Given the description of an element on the screen output the (x, y) to click on. 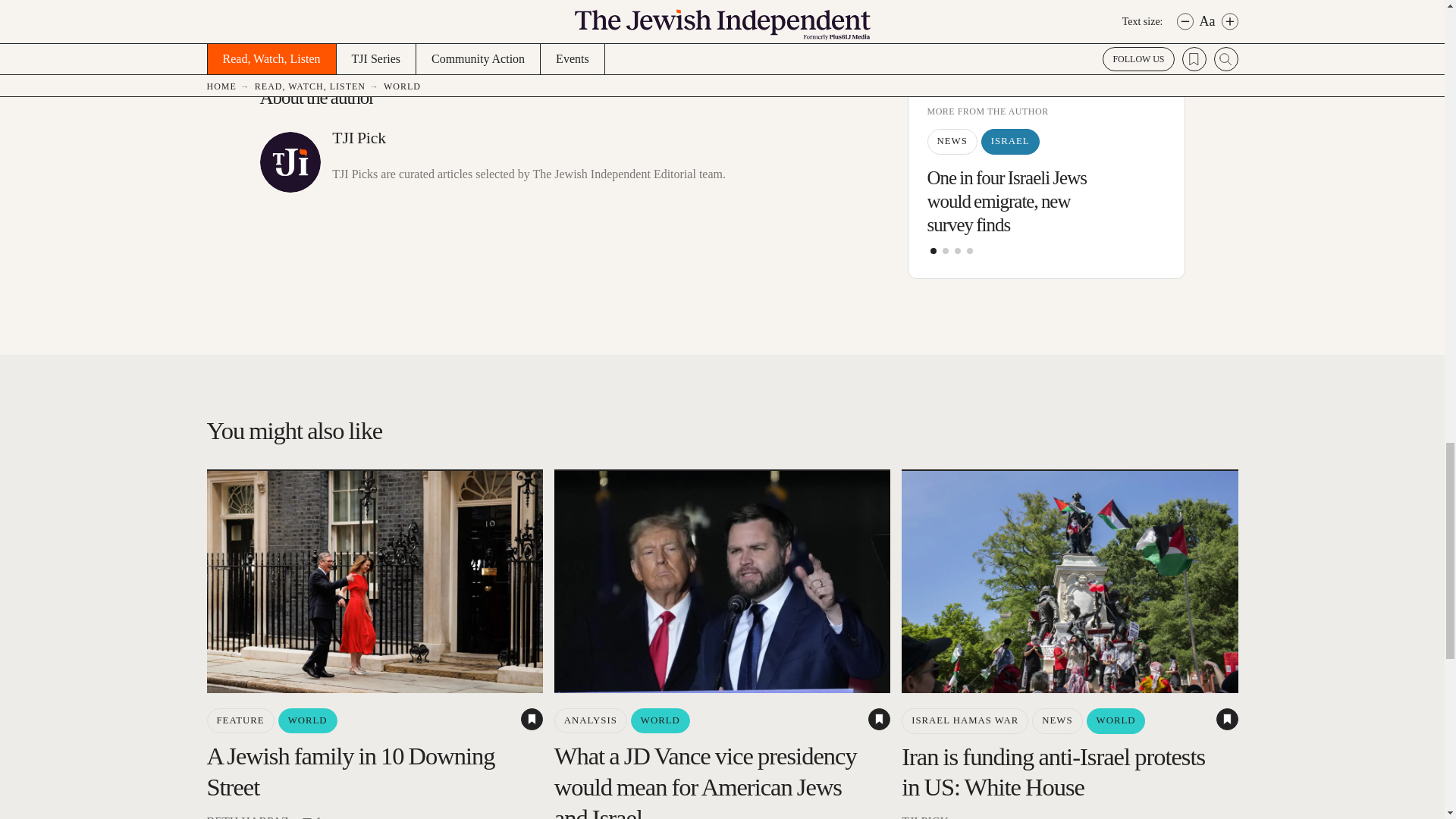
Add to your saved articles (532, 719)
Add to your saved articles (1227, 719)
Add to your saved articles (878, 719)
